Given the description of an element on the screen output the (x, y) to click on. 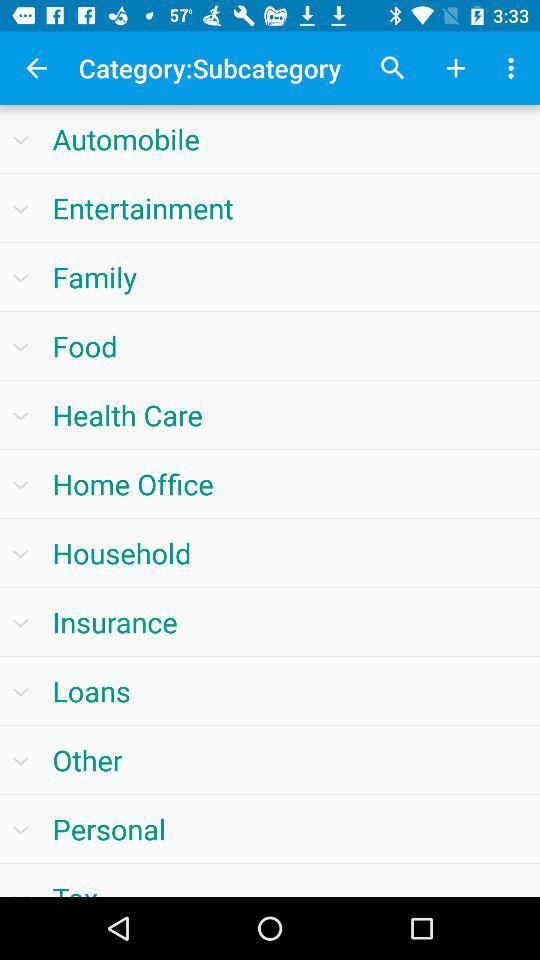
press the app to the right of the category:subcategory item (392, 67)
